Given the description of an element on the screen output the (x, y) to click on. 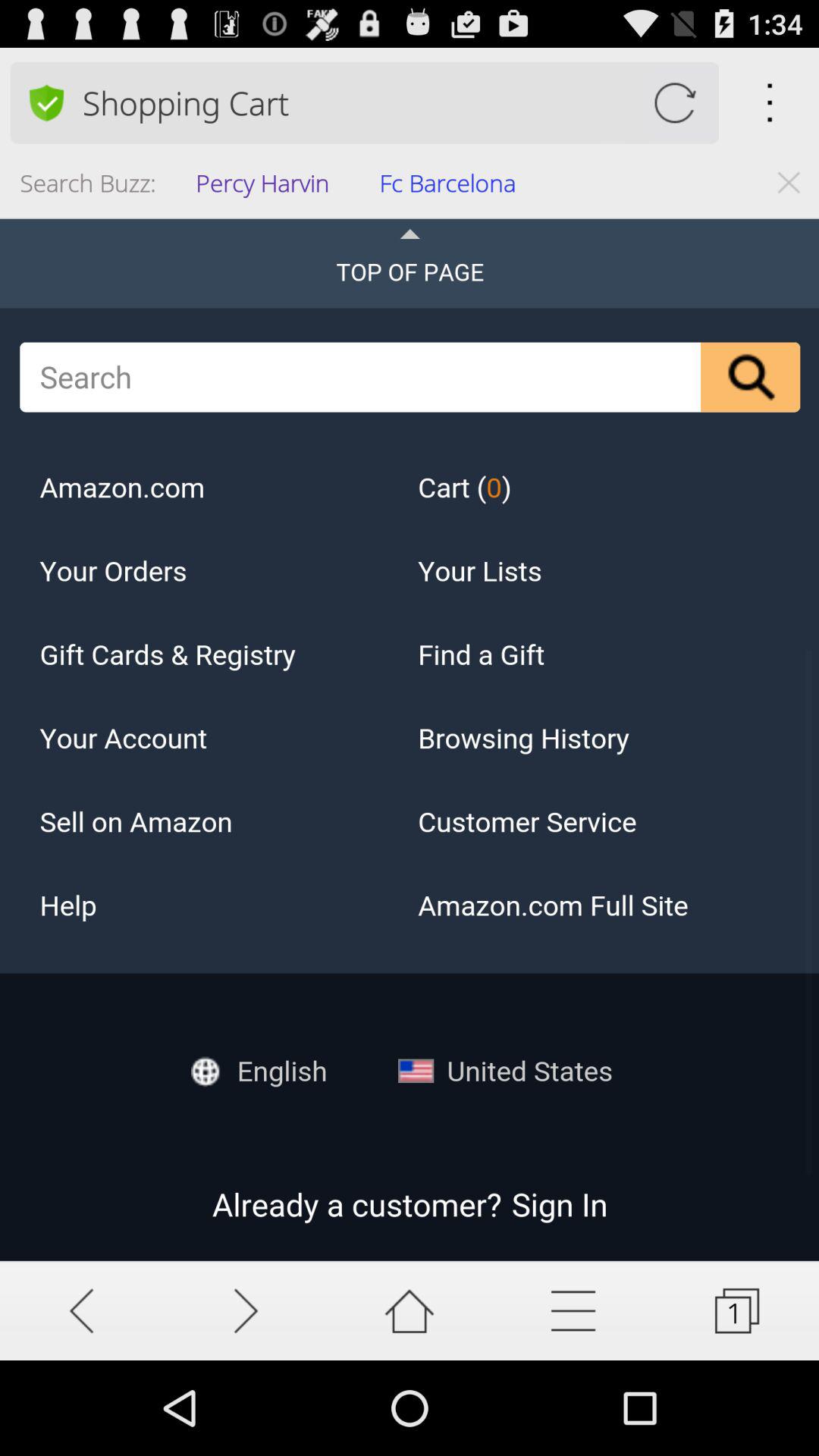
tap percy harvin icon (267, 187)
